Given the description of an element on the screen output the (x, y) to click on. 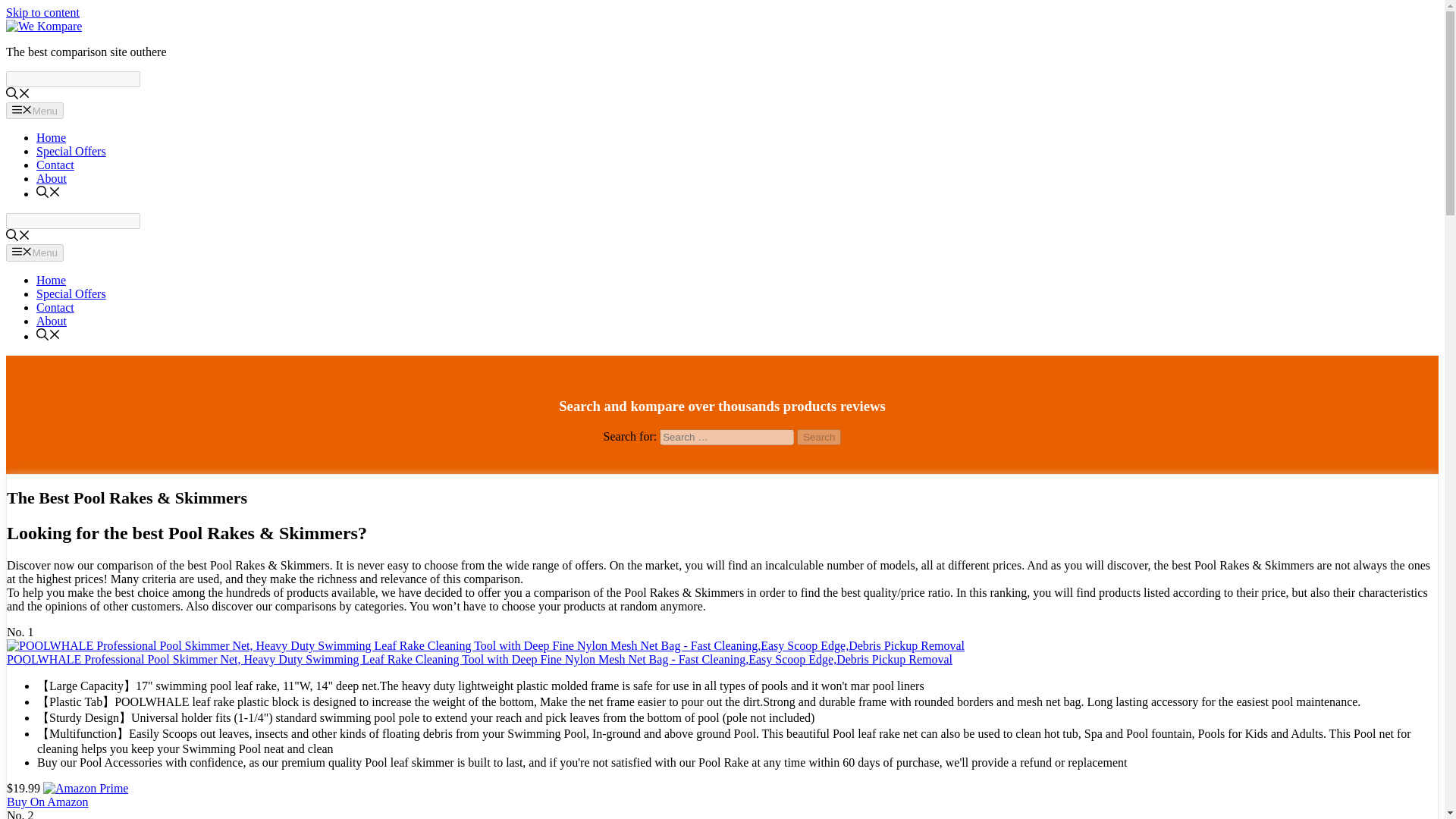
Special Offers (71, 151)
Contact (55, 164)
About (51, 178)
Contact (55, 307)
Skip to content (42, 11)
Search (818, 437)
Search for: (726, 437)
Skip to content (42, 11)
Buy On Amazon (47, 801)
Amazon Prime (85, 788)
Special Offers (71, 293)
About (51, 320)
